Given the description of an element on the screen output the (x, y) to click on. 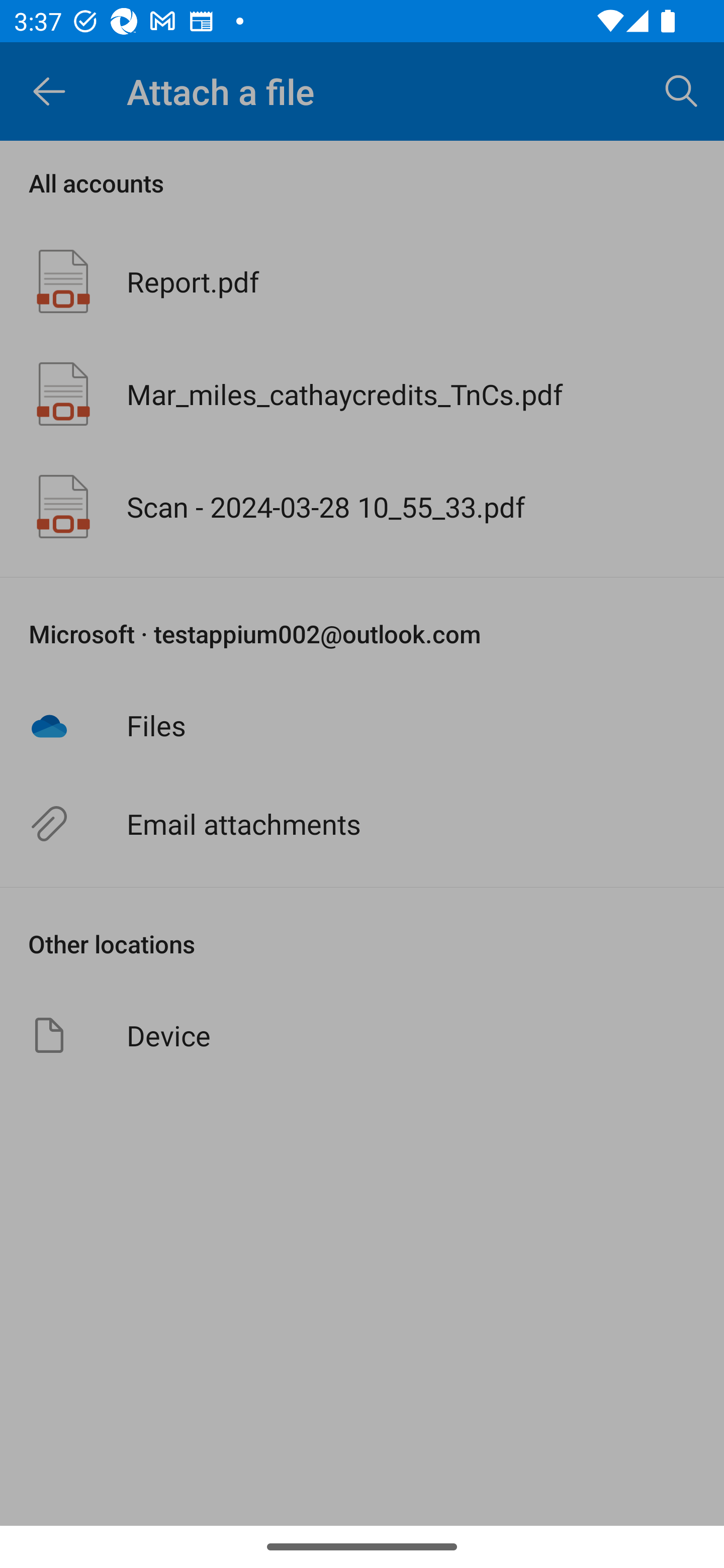
Navigate up (49, 91)
Search button (681, 90)
Report.pdf (362, 281)
Mar_miles_cathaycredits_TnCs.pdf (362, 393)
Scan - 2024-03-28 10_55_33.pdf (362, 506)
Files (362, 724)
Email attachments (362, 823)
Device (362, 1035)
